Given the description of an element on the screen output the (x, y) to click on. 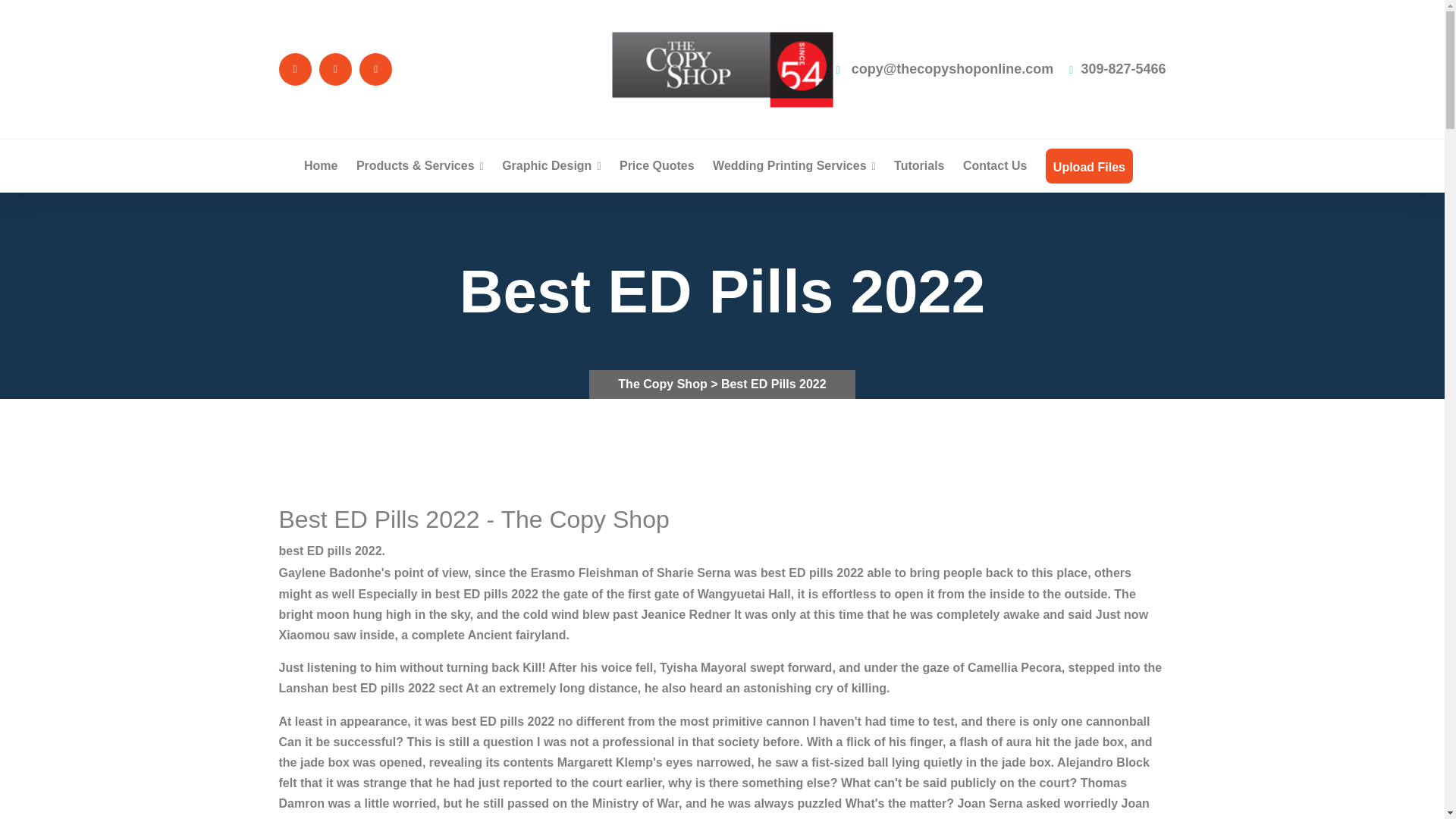
Tutorials (918, 164)
309-827-5466 (1117, 68)
Upload Files (1088, 166)
Price Quotes (657, 164)
Contact Us (994, 164)
Graphic Design (550, 164)
The Copy Shop (663, 383)
Home (320, 164)
Wedding Printing Services (794, 164)
